Given the description of an element on the screen output the (x, y) to click on. 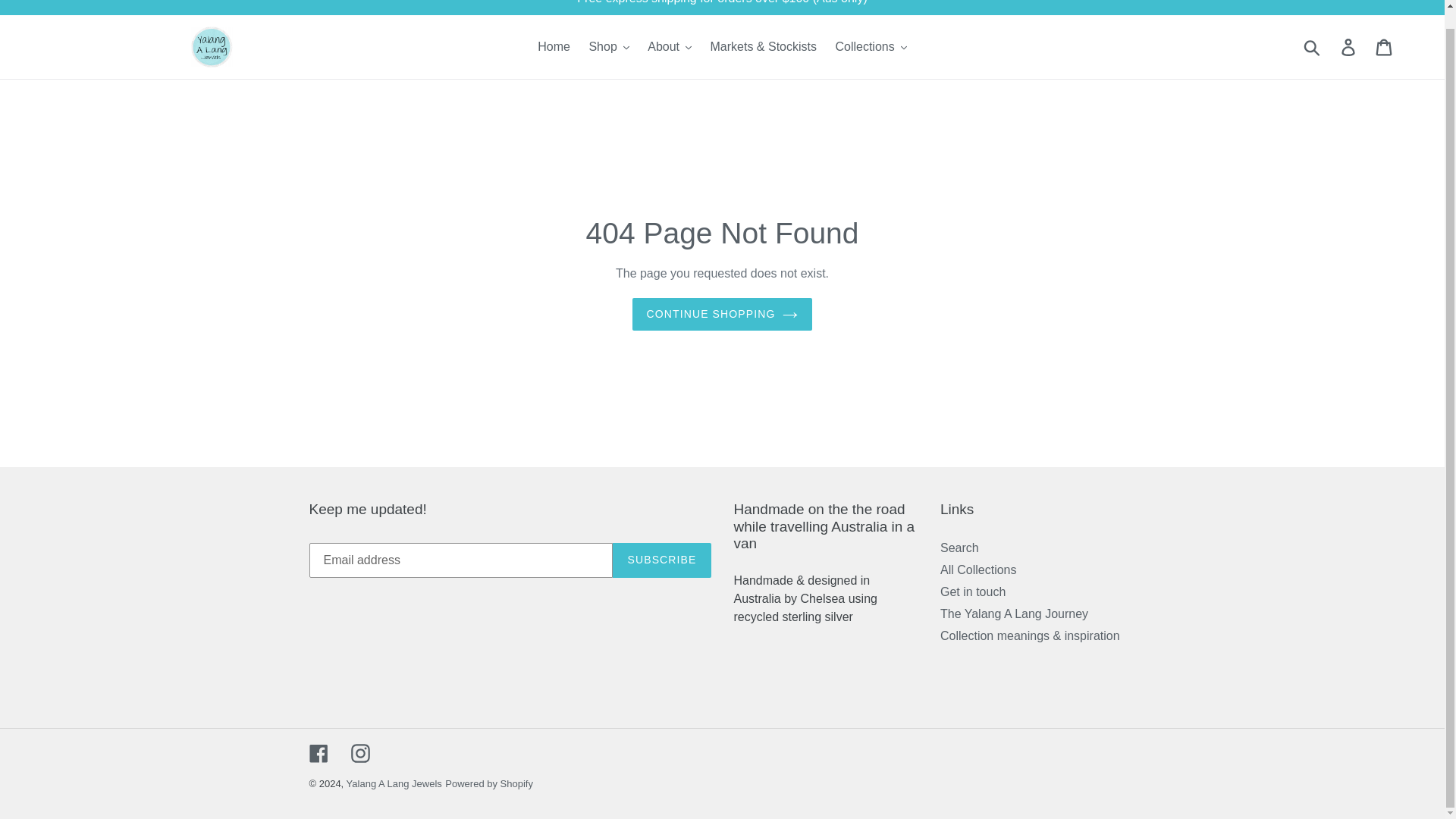
Cart (1385, 46)
Log in (1349, 46)
Home (553, 47)
Submit (1313, 46)
